Given the description of an element on the screen output the (x, y) to click on. 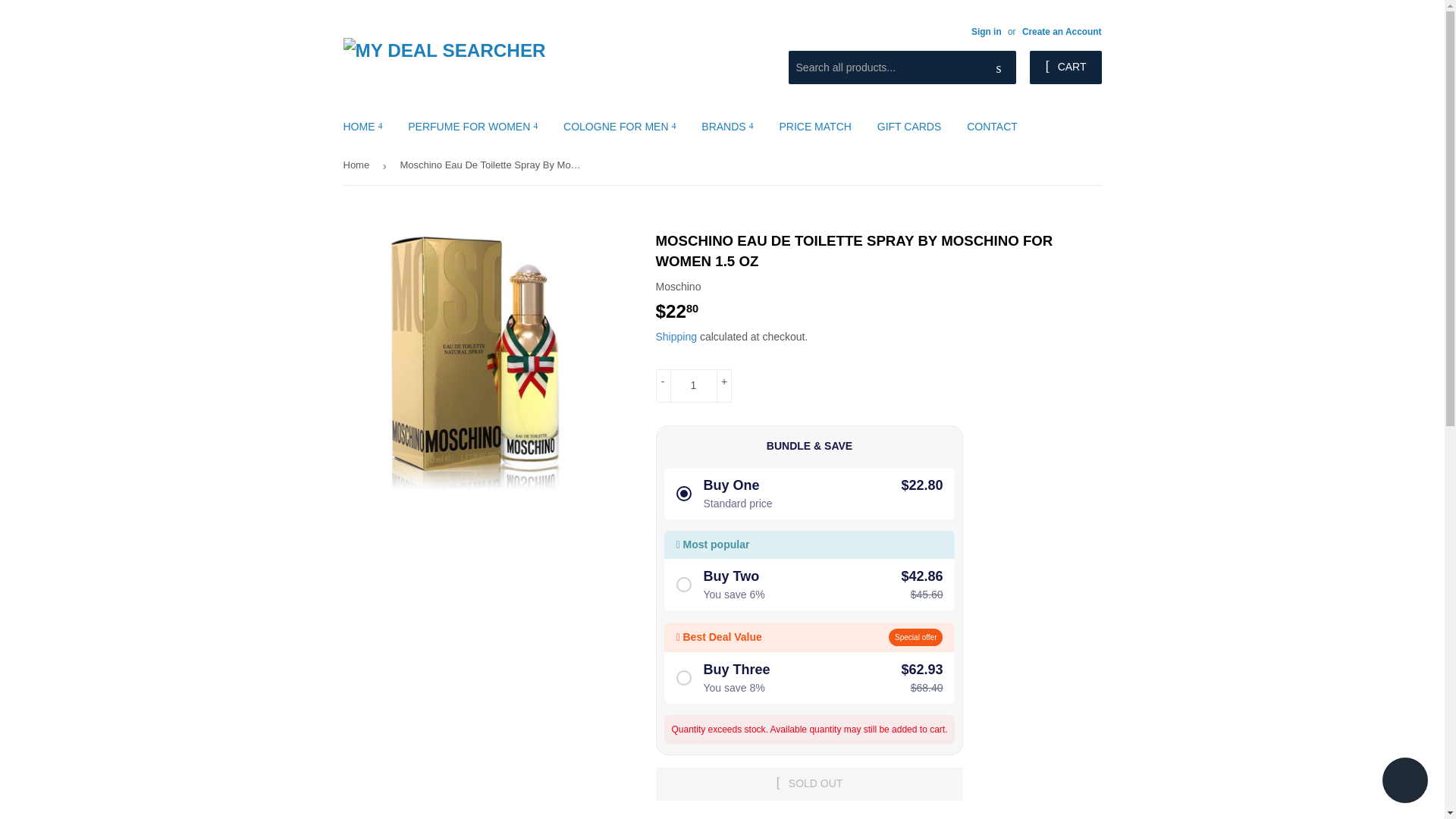
Sign in (986, 31)
CART (1064, 67)
Search (998, 68)
1 (692, 385)
Shopify online store chat (1404, 781)
Create an Account (1062, 31)
